Given the description of an element on the screen output the (x, y) to click on. 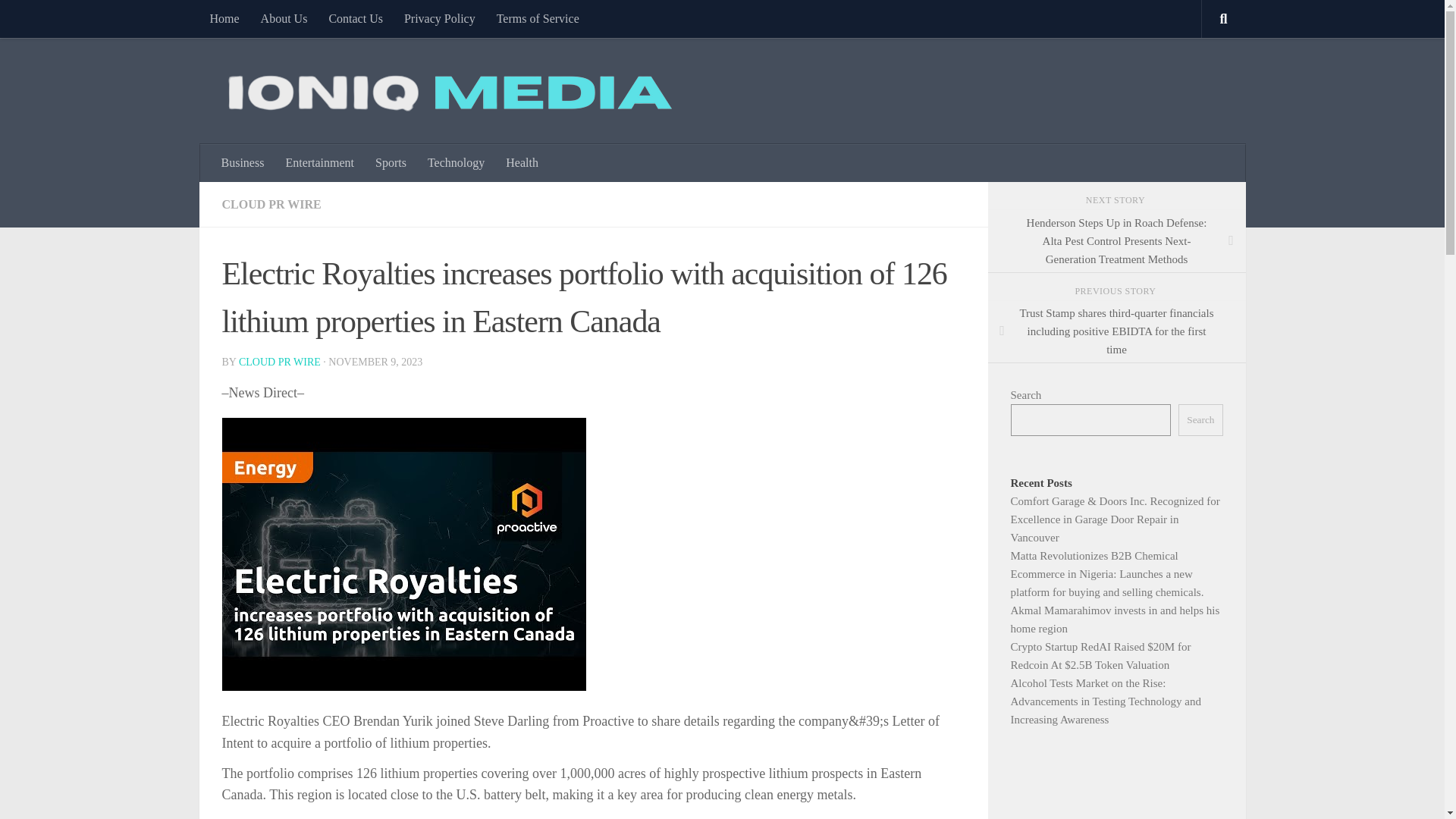
Health (521, 162)
Sports (390, 162)
Skip to content (59, 20)
Search (1200, 419)
Privacy Policy (439, 18)
CLOUD PR WIRE (279, 361)
Contact Us (355, 18)
CLOUD PR WIRE (270, 204)
Posts by Cloud PR Wire (279, 361)
Home (223, 18)
Terms of Service (537, 18)
Business (243, 162)
About Us (284, 18)
Entertainment (320, 162)
